Given the description of an element on the screen output the (x, y) to click on. 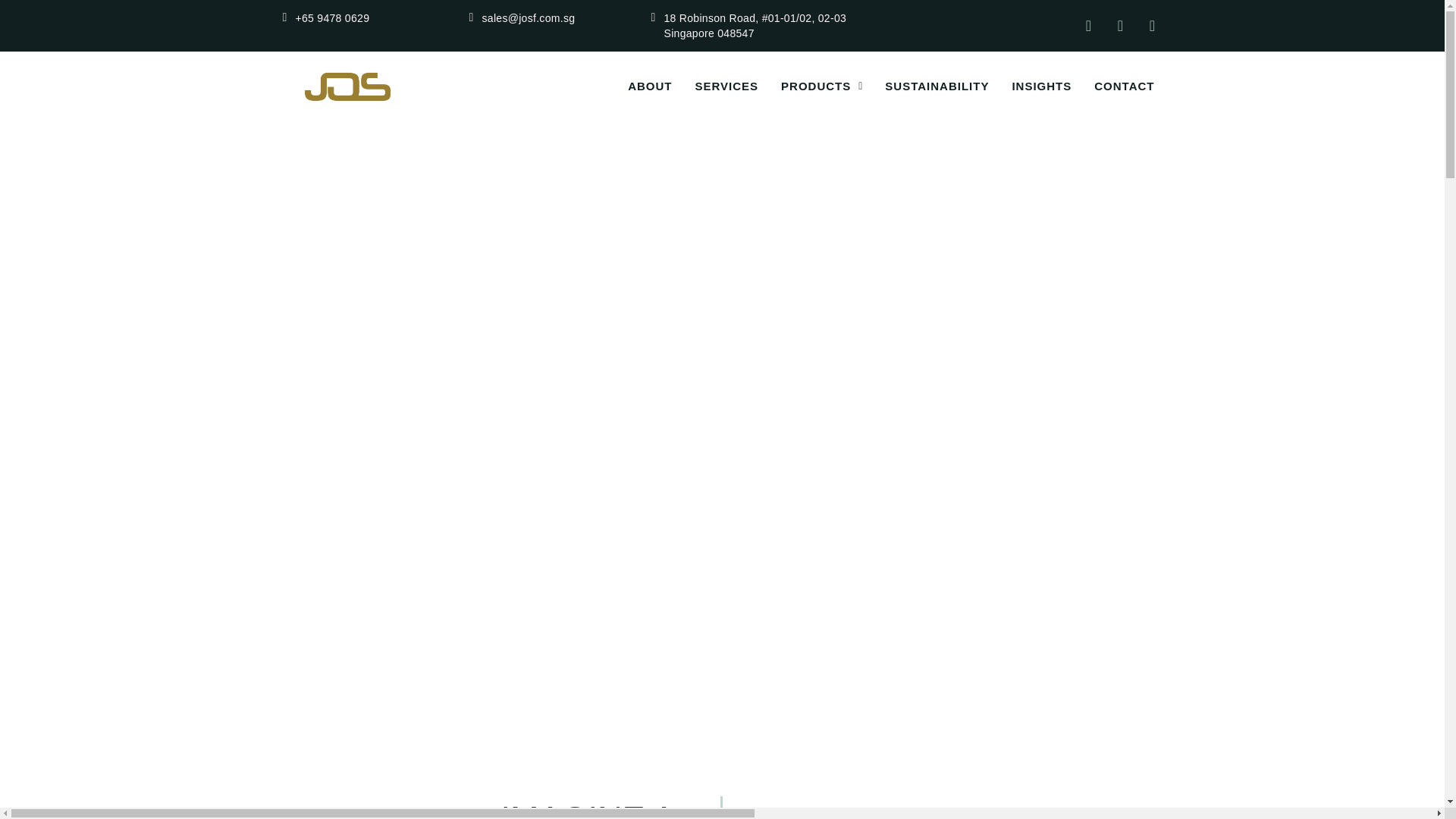
SUSTAINABILITY (924, 86)
INSIGHTS (1029, 86)
ABOUT (638, 86)
CONTACT (1112, 86)
SERVICES (714, 86)
PRODUCTS (809, 86)
